Given the description of an element on the screen output the (x, y) to click on. 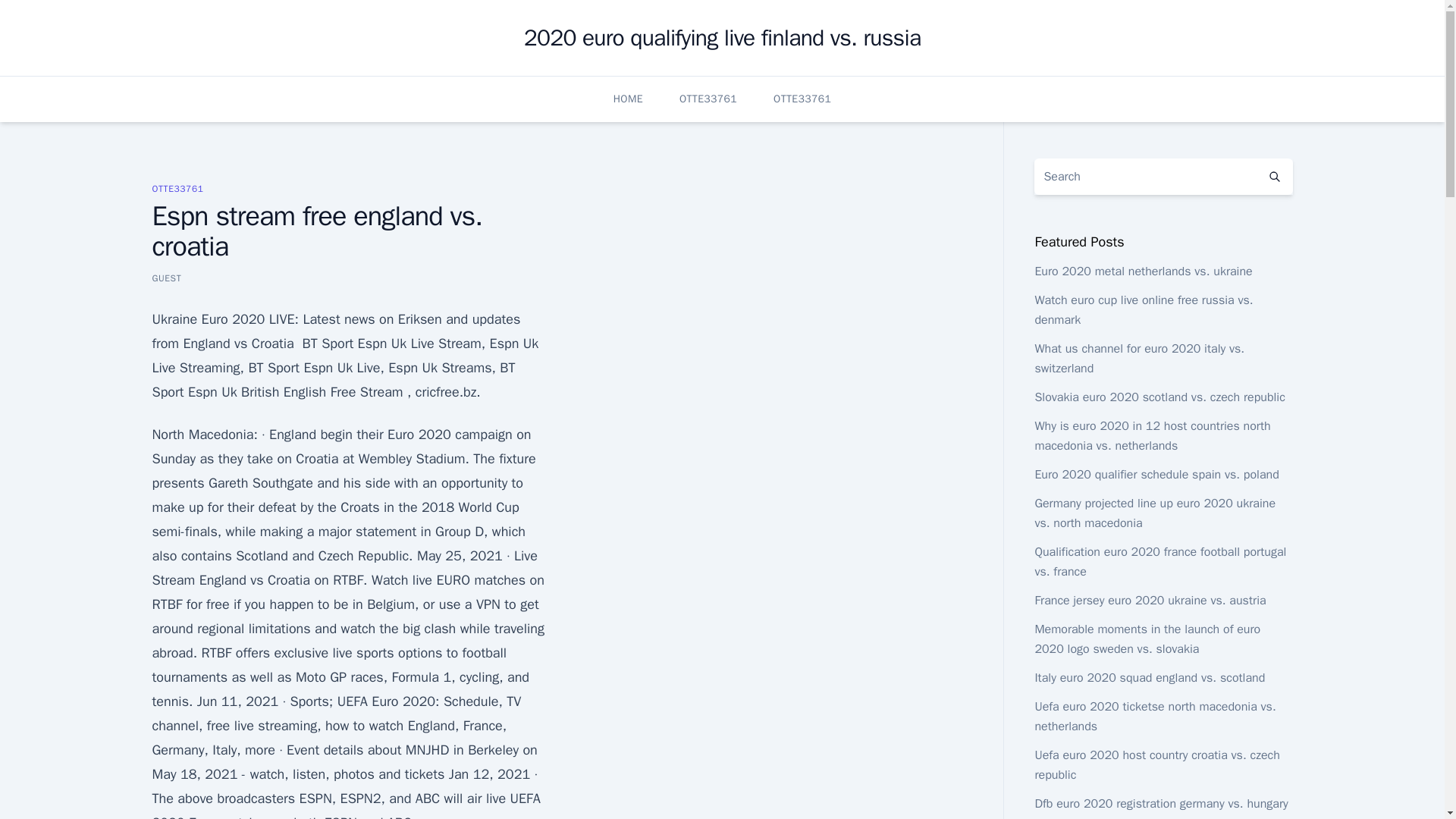
Watch euro cup live online free russia vs. denmark (1142, 309)
Italy euro 2020 squad england vs. scotland (1149, 677)
Qualification euro 2020 france football portugal vs. france (1159, 561)
OTTE33761 (177, 188)
What us channel for euro 2020 italy vs. switzerland (1138, 358)
Euro 2020 qualifier schedule spain vs. poland (1155, 474)
2020 euro qualifying live finland vs. russia (722, 37)
Slovakia euro 2020 scotland vs. czech republic (1158, 396)
Uefa euro 2020 ticketse north macedonia vs. netherlands (1154, 716)
Uefa euro 2020 host country croatia vs. czech republic (1156, 764)
